Given the description of an element on the screen output the (x, y) to click on. 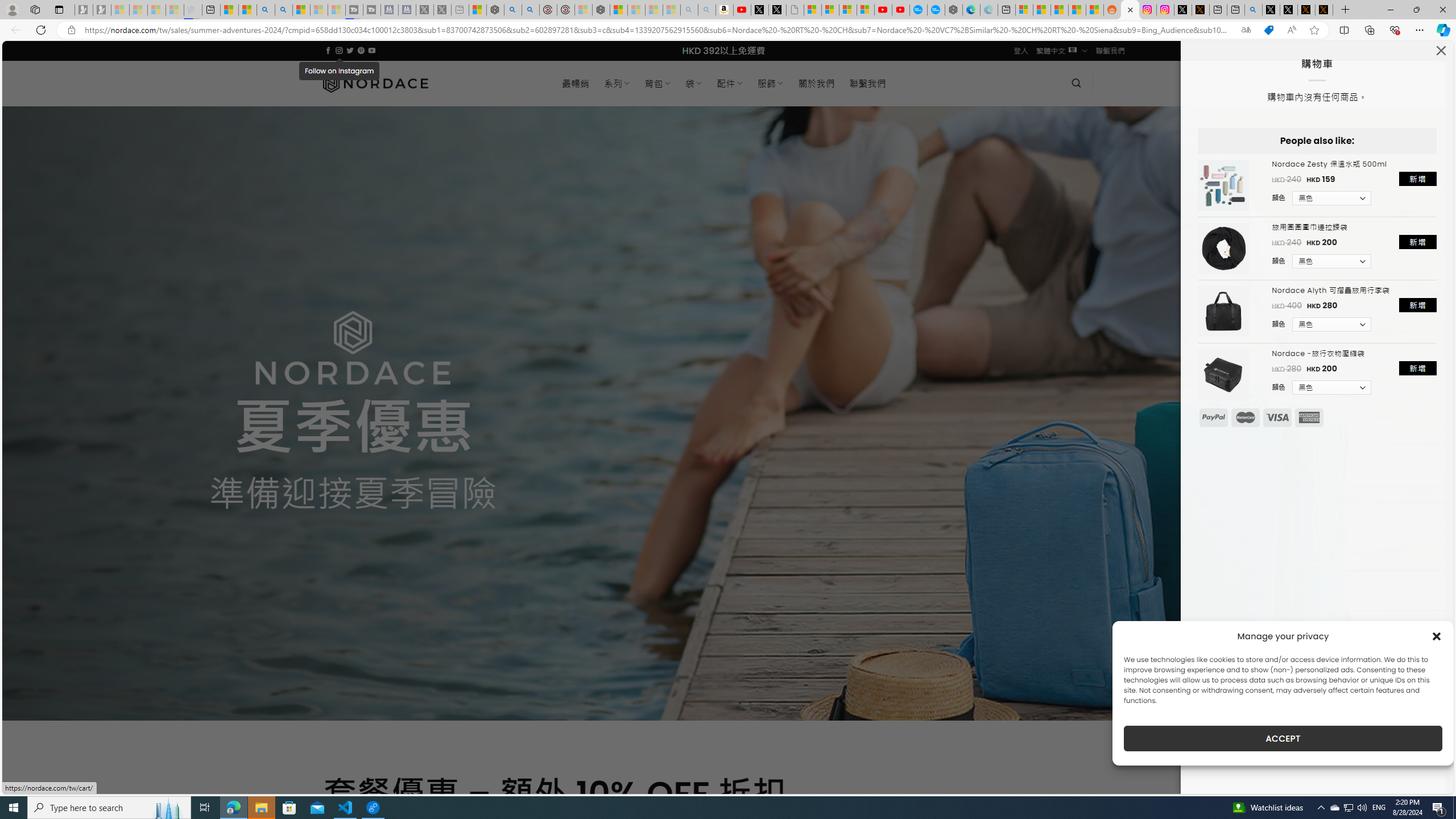
Amazon Echo Dot PNG - Search Images - Sleeping (706, 9)
Nordace - Nordace Siena Is Not An Ordinary Backpack (601, 9)
Close (Esc) (1440, 53)
